Given the description of an element on the screen output the (x, y) to click on. 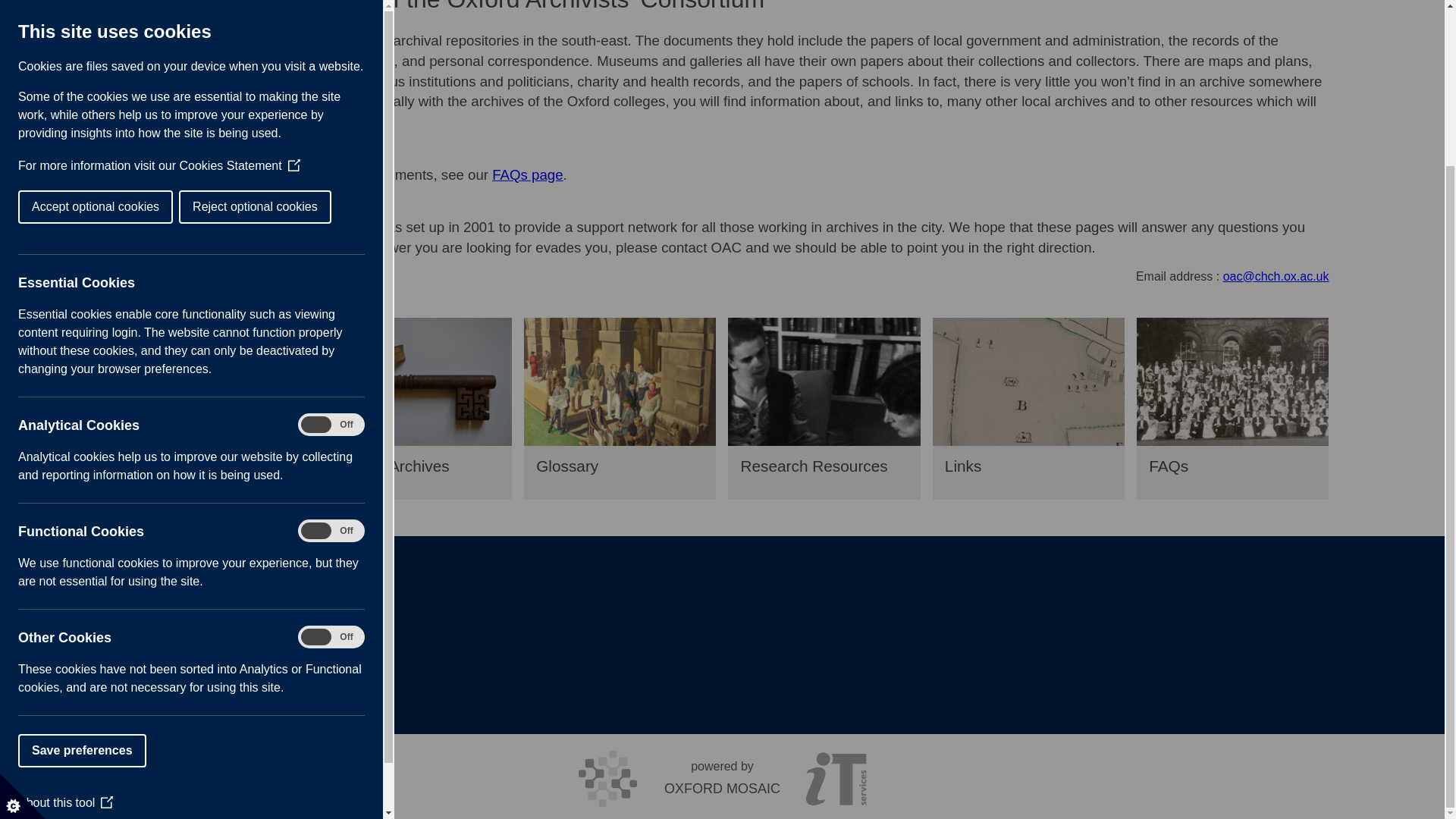
Picture credits (153, 609)
Research Resources (824, 381)
FAQs (1232, 472)
College Archives (416, 472)
Links (1028, 472)
FAQs (1232, 381)
Accessibility statement (176, 626)
College Archives (416, 381)
Bibliography (211, 472)
Reject optional cookies (49, 12)
Privacy statement (163, 644)
Copyright (141, 592)
FAQs page (527, 174)
Glossary (620, 472)
Links (1028, 381)
